Given the description of an element on the screen output the (x, y) to click on. 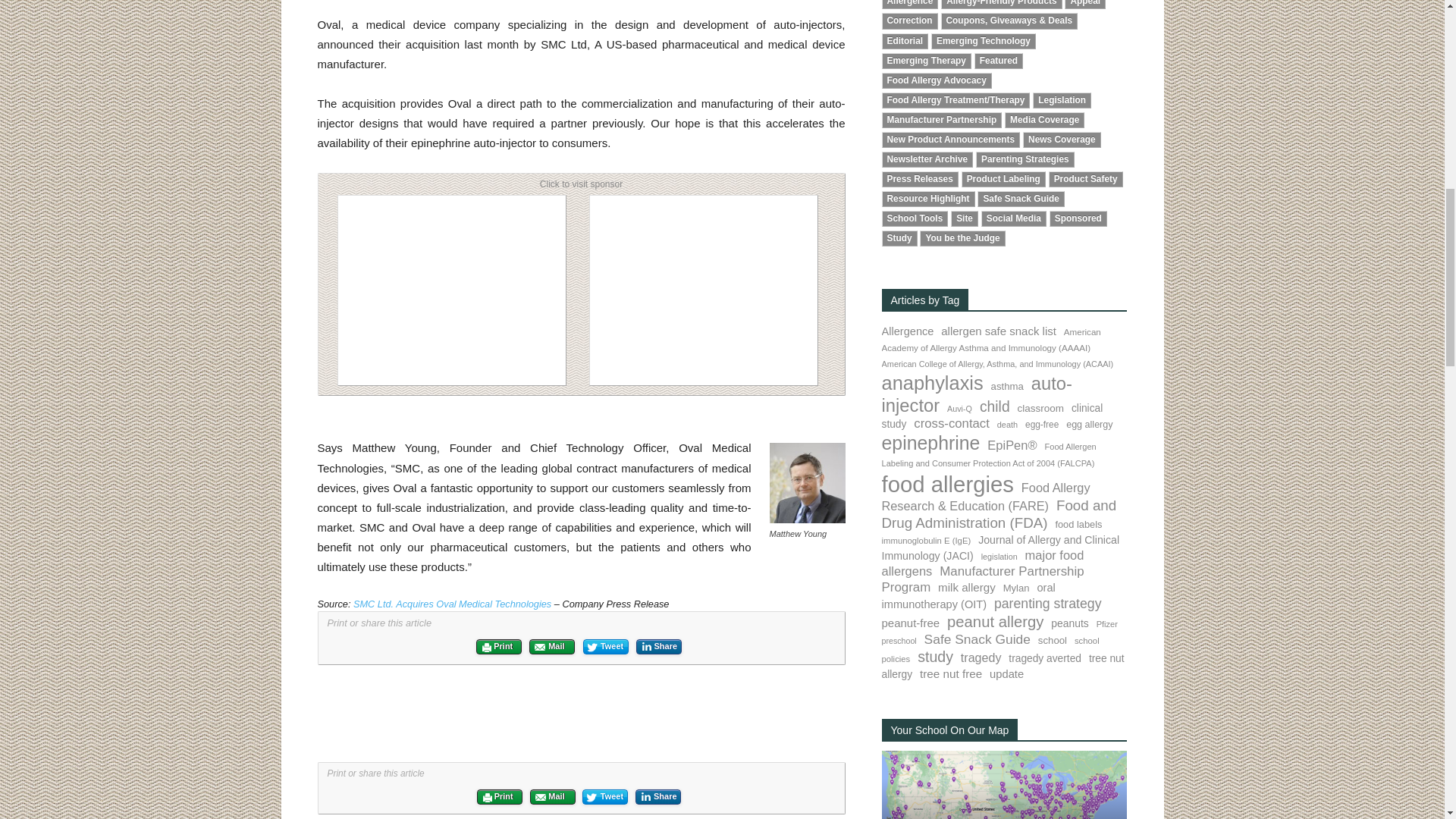
Print or save a PDF of this page (499, 796)
E-mail a link to this page (552, 646)
Print or save a PDF of this page (498, 646)
